Given the description of an element on the screen output the (x, y) to click on. 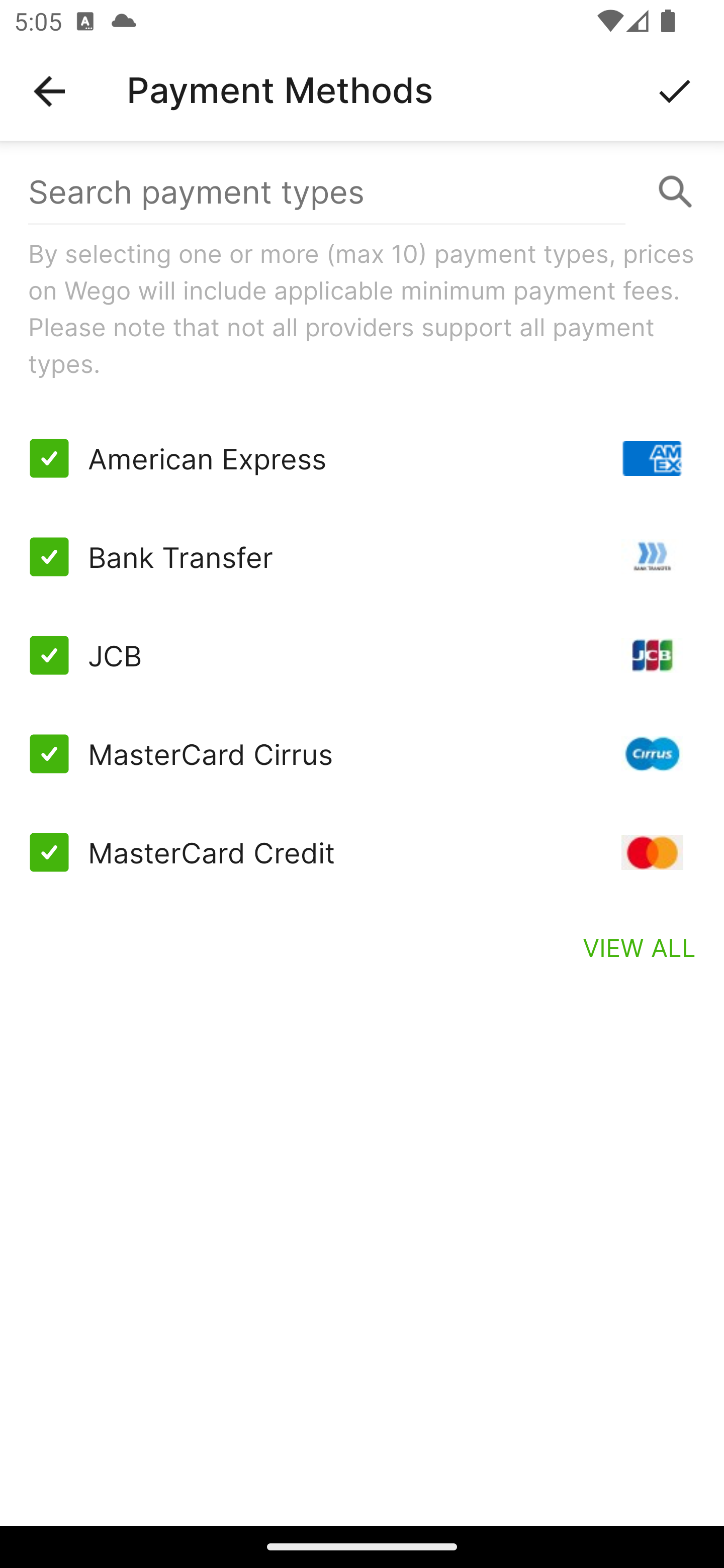
Search payment types  (361, 191)
American Express (362, 458)
Bank Transfer (362, 557)
JCB (362, 655)
MasterCard Cirrus (362, 753)
MasterCard Credit (362, 851)
VIEW ALL (639, 946)
